Given the description of an element on the screen output the (x, y) to click on. 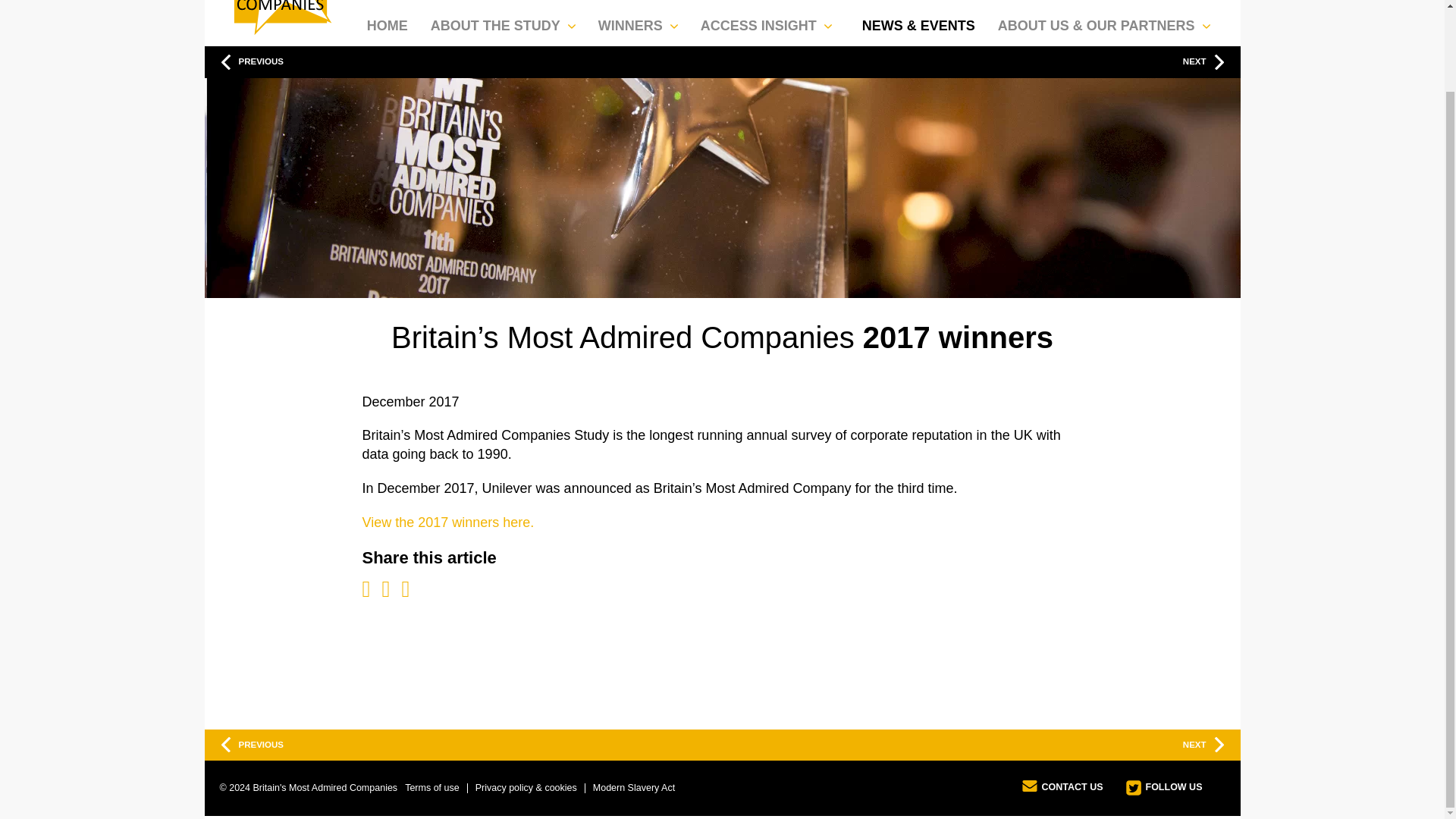
PREVIOUS (470, 61)
ABOUT THE STUDY (506, 21)
Terms of use (432, 787)
PREVIOUS (386, 744)
ACCESS INSIGHT (770, 21)
Modern Slavery Act (633, 787)
NEXT (973, 61)
HOME (386, 21)
WINNERS (641, 21)
CONTACT US (1062, 788)
